Given the description of an element on the screen output the (x, y) to click on. 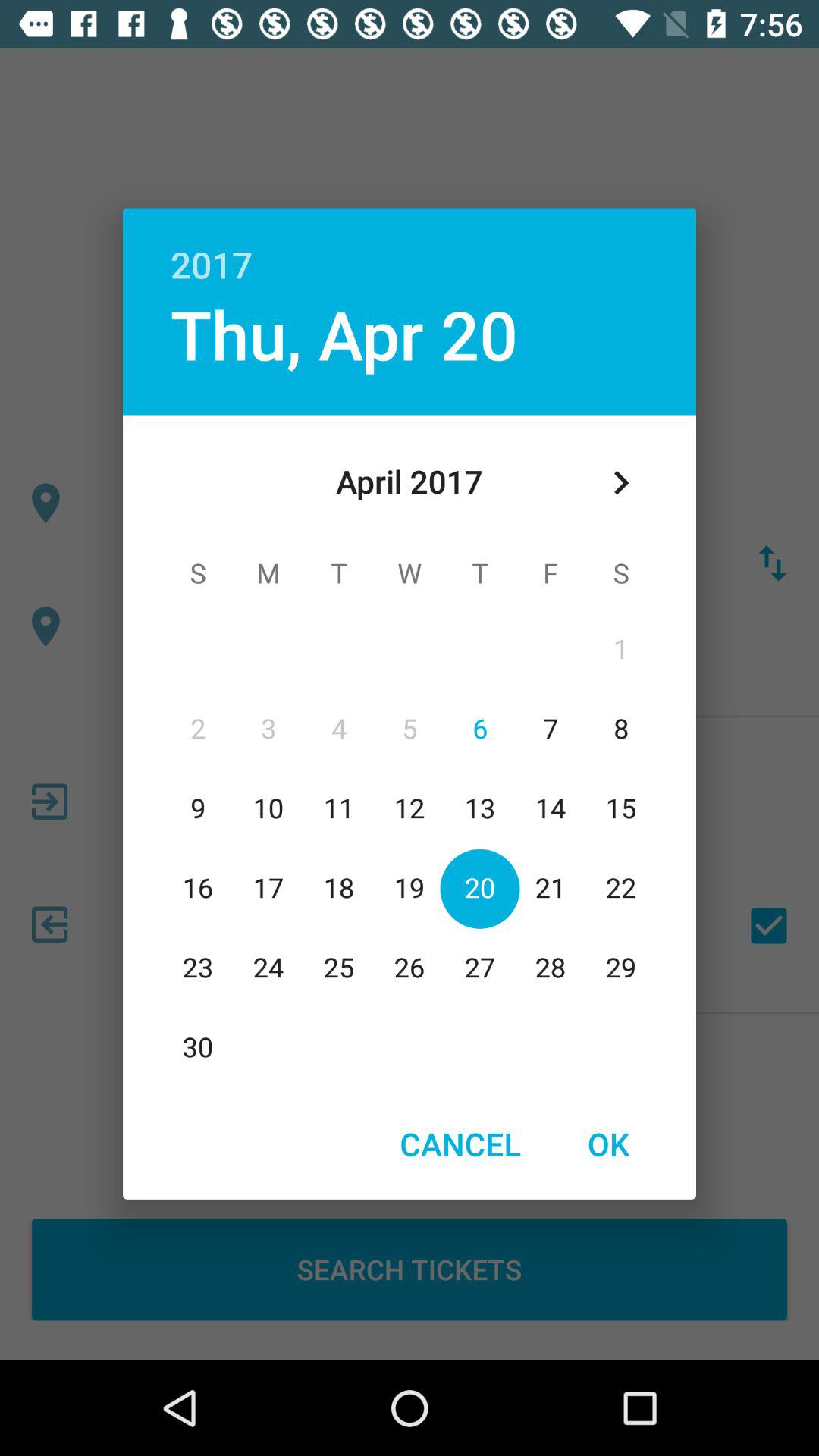
turn on item next to the ok button (459, 1143)
